Given the description of an element on the screen output the (x, y) to click on. 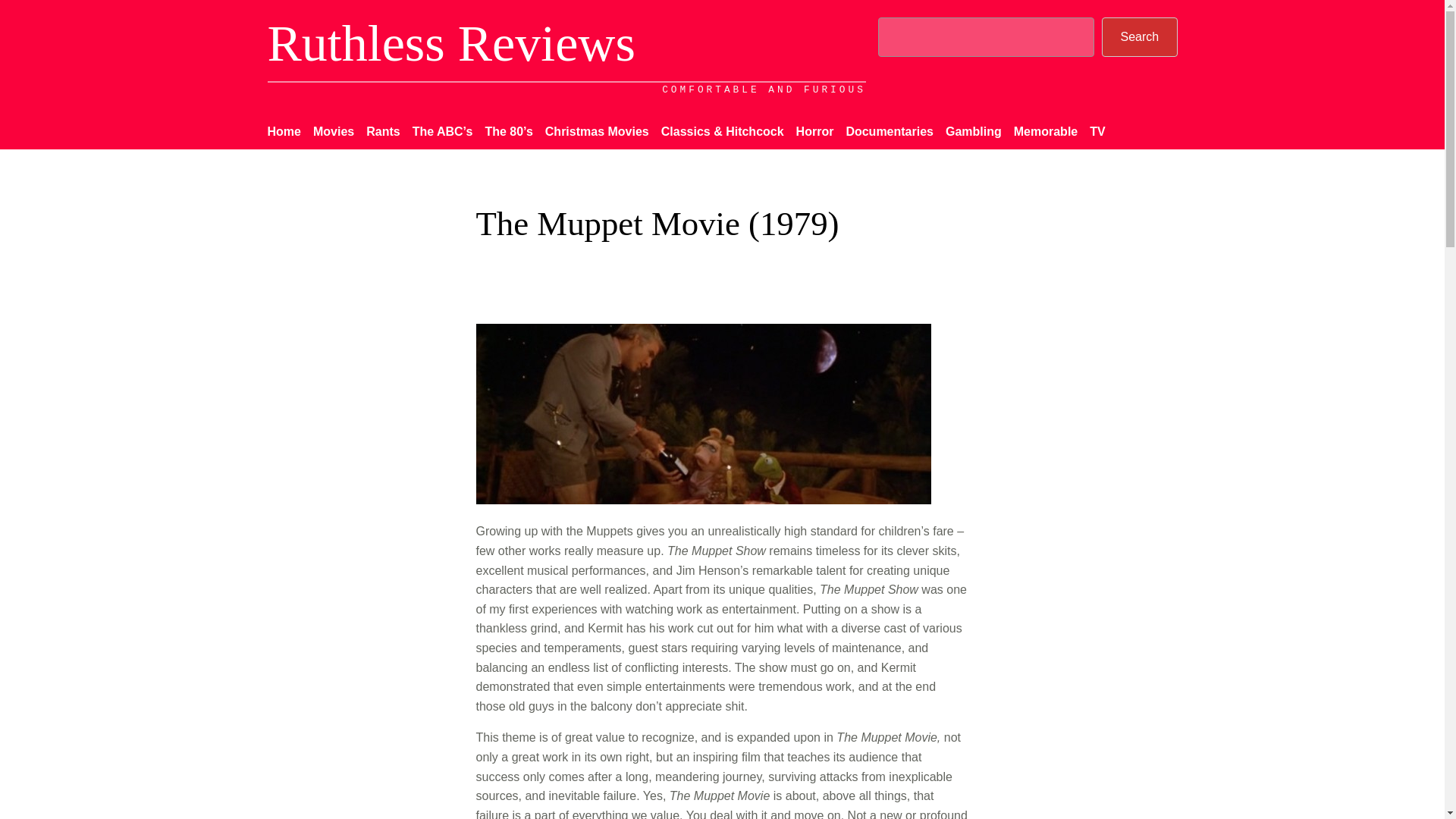
Home (282, 131)
Memorable (1045, 131)
Rants (382, 131)
Ruthless Reviews (450, 42)
Christmas Movies (596, 131)
Horror (815, 131)
Search (1139, 36)
Gambling (972, 131)
Movies (333, 131)
Documentaries (889, 131)
